Given the description of an element on the screen output the (x, y) to click on. 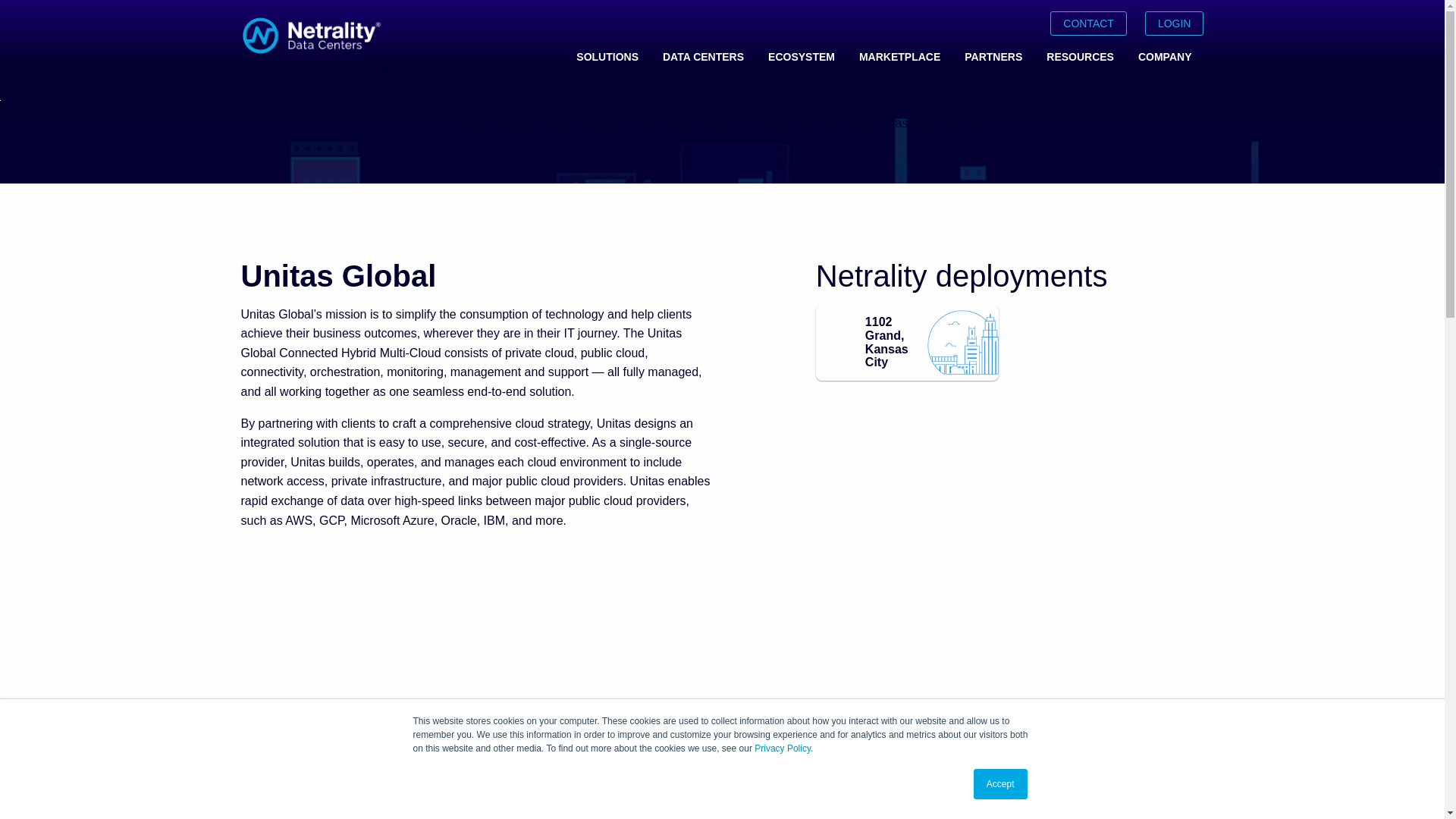
Privacy Policy (782, 747)
Accept (1000, 784)
